Given the description of an element on the screen output the (x, y) to click on. 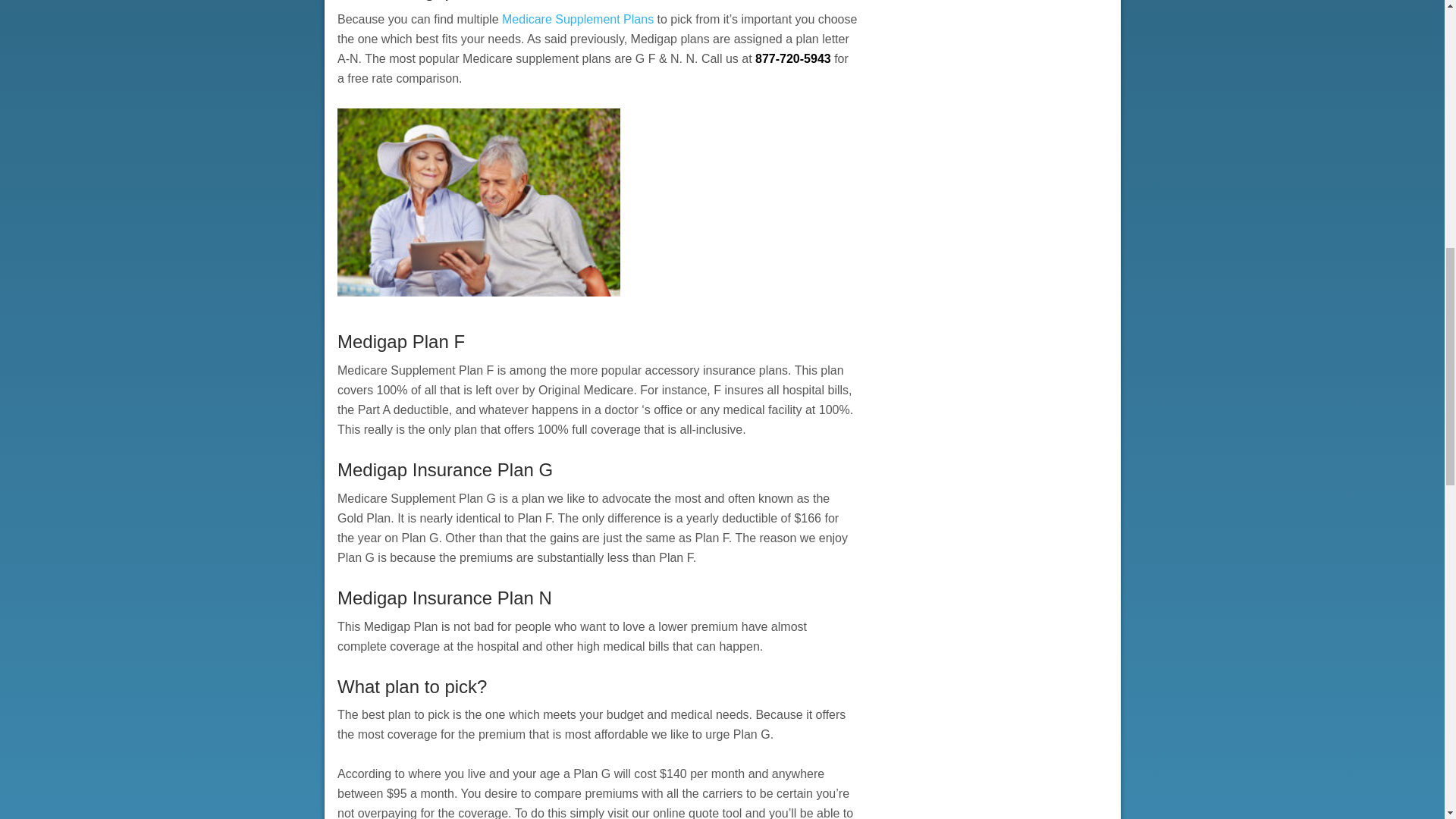
Medicare Supplement Plans (577, 19)
